Given the description of an element on the screen output the (x, y) to click on. 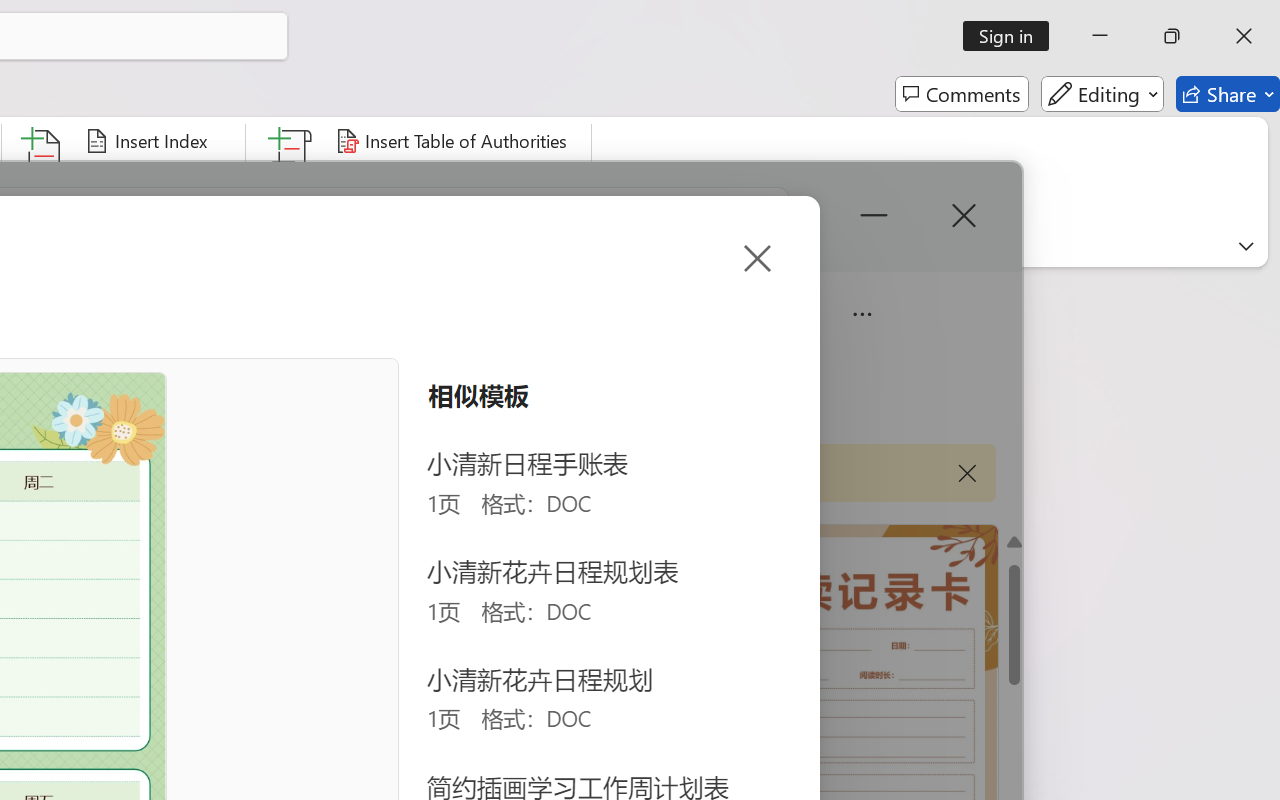
Update Index (156, 179)
Editing (1101, 94)
Insert Index... (149, 141)
Mark Entry... (44, 179)
Insert Table of Authorities... (453, 141)
Update Table (404, 179)
Mark Citation... (292, 179)
Sign in (1012, 35)
